Given the description of an element on the screen output the (x, y) to click on. 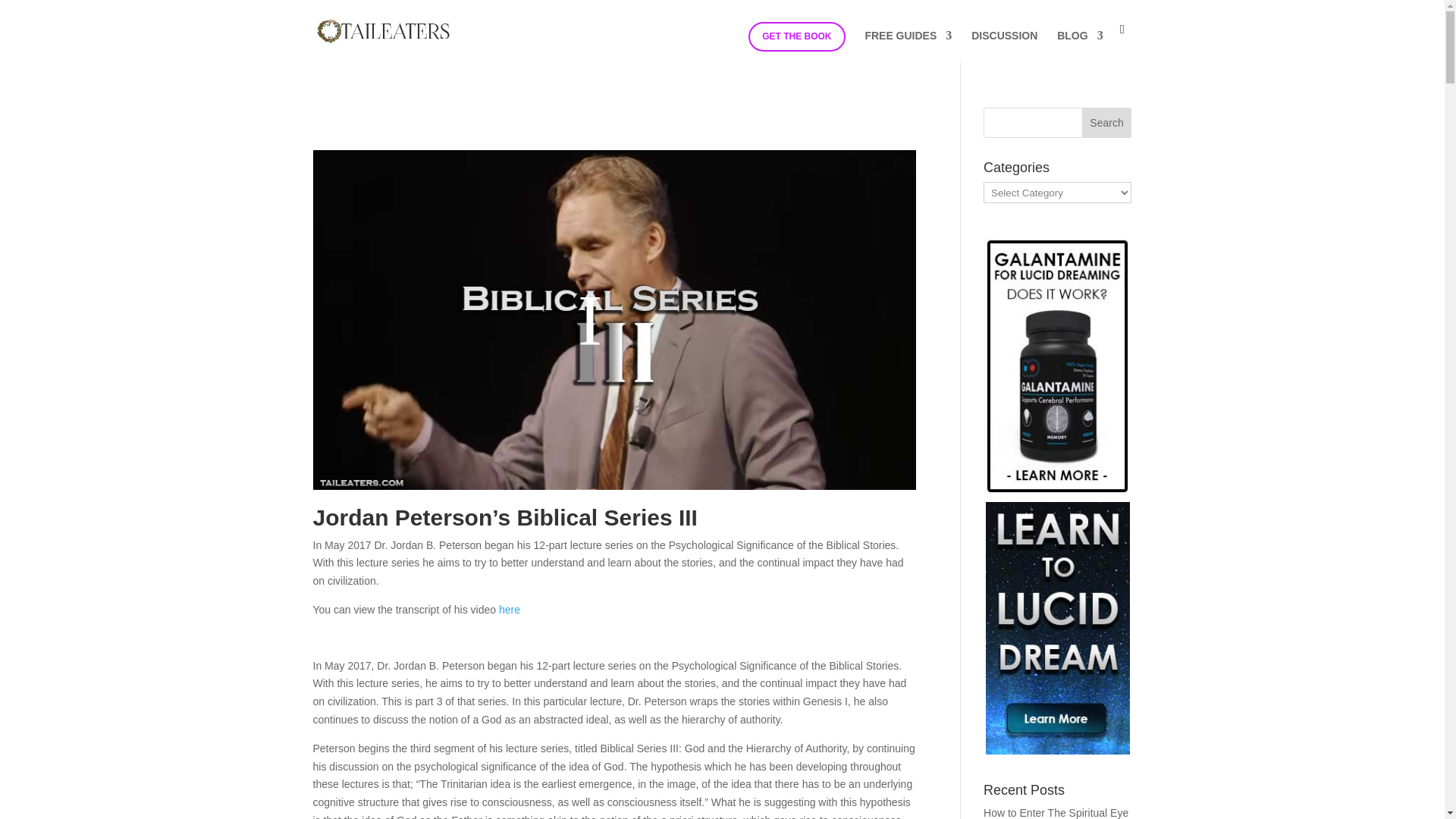
DISCUSSION (1003, 46)
FREE GUIDES (908, 46)
GET THE BOOK (796, 36)
BLOG (1079, 46)
Search (1106, 122)
here (509, 609)
